Given the description of an element on the screen output the (x, y) to click on. 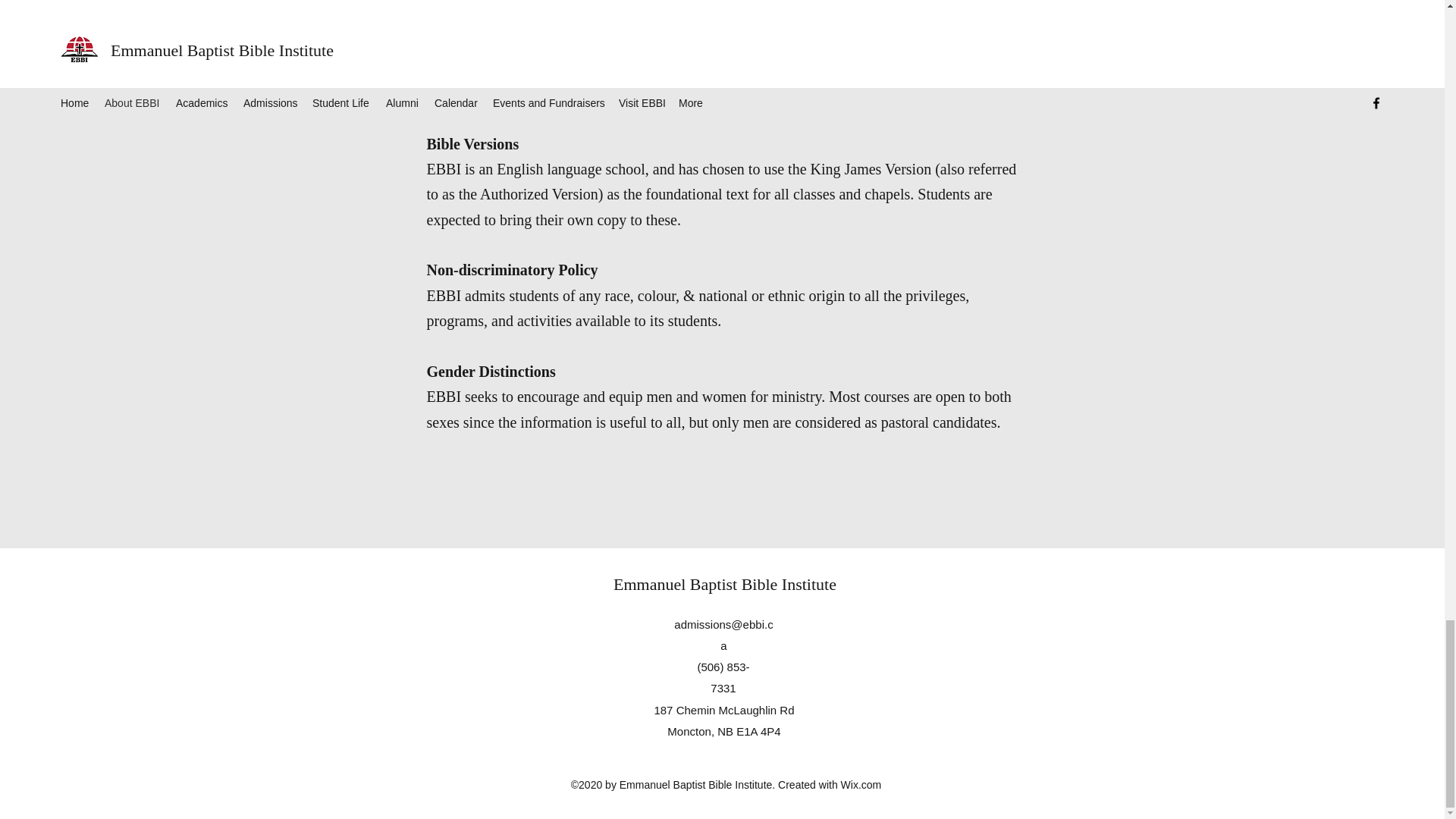
Emmanuel Baptist Bible Institute (723, 583)
